Given the description of an element on the screen output the (x, y) to click on. 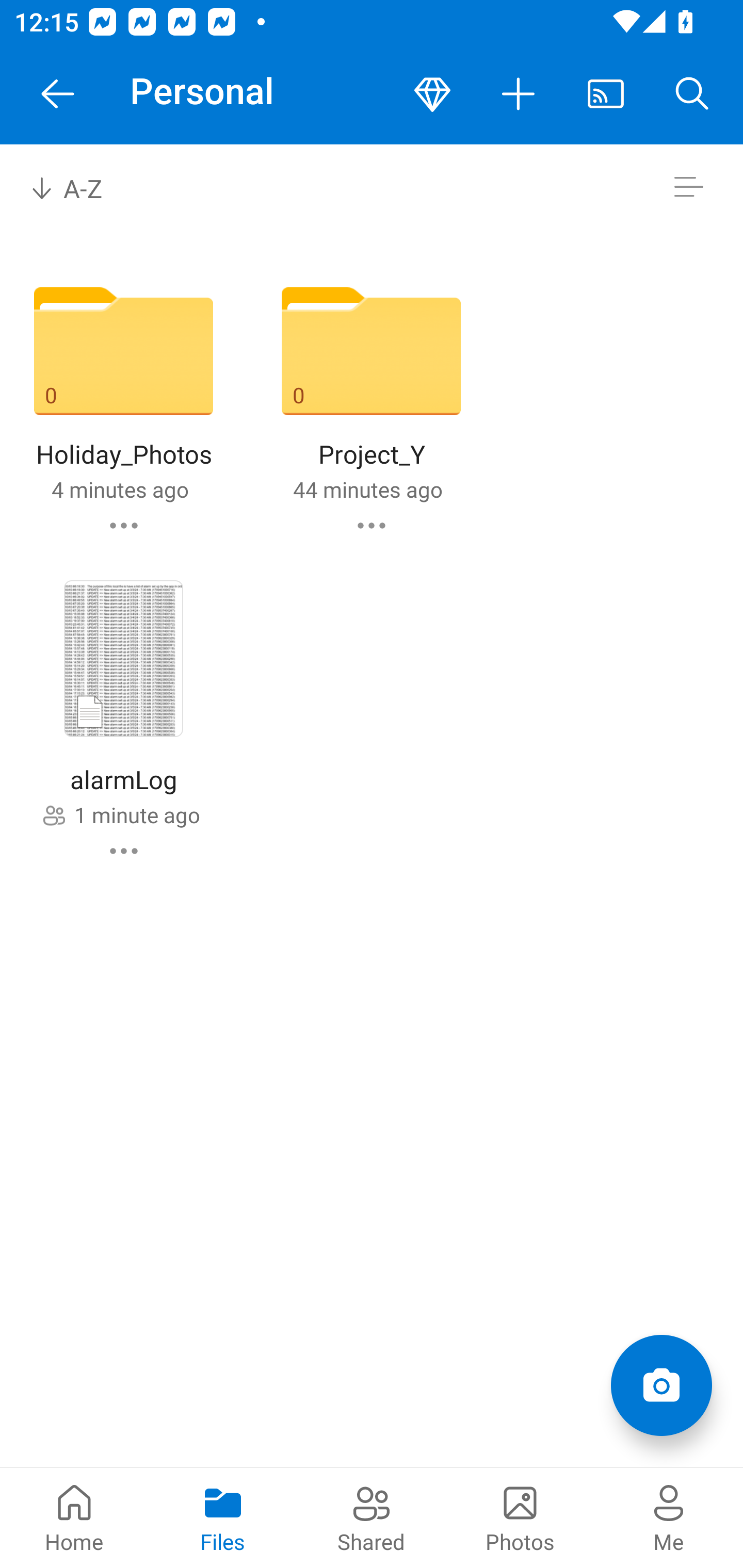
Navigate Up (57, 93)
Cast. Disconnected (605, 93)
Premium button (432, 93)
More actions button (518, 93)
Search button (692, 93)
A-Z Sort by combo box, sort by name, A to Z (80, 187)
Switch to list view (688, 187)
4 minutes ago (119, 489)
44 minutes ago (367, 489)
Holiday_Photos commands (123, 525)
Project_Y commands (371, 525)
1 minute ago (136, 814)
alarmLog commands (123, 851)
Add items Scan (660, 1385)
Home pivot Home (74, 1517)
Shared pivot Shared (371, 1517)
Photos pivot Photos (519, 1517)
Me pivot Me (668, 1517)
